Given the description of an element on the screen output the (x, y) to click on. 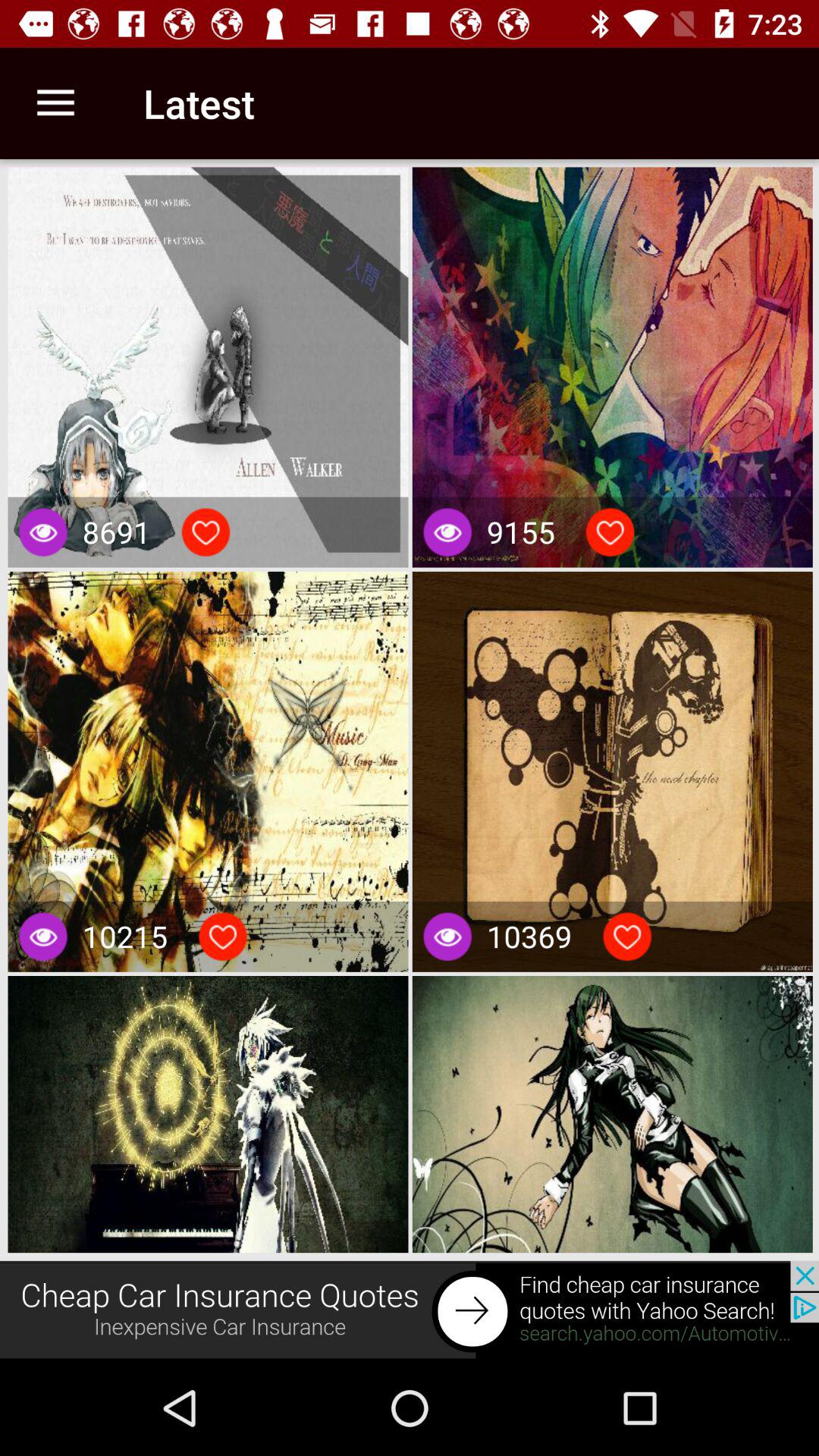
favorite user content (205, 532)
